Given the description of an element on the screen output the (x, y) to click on. 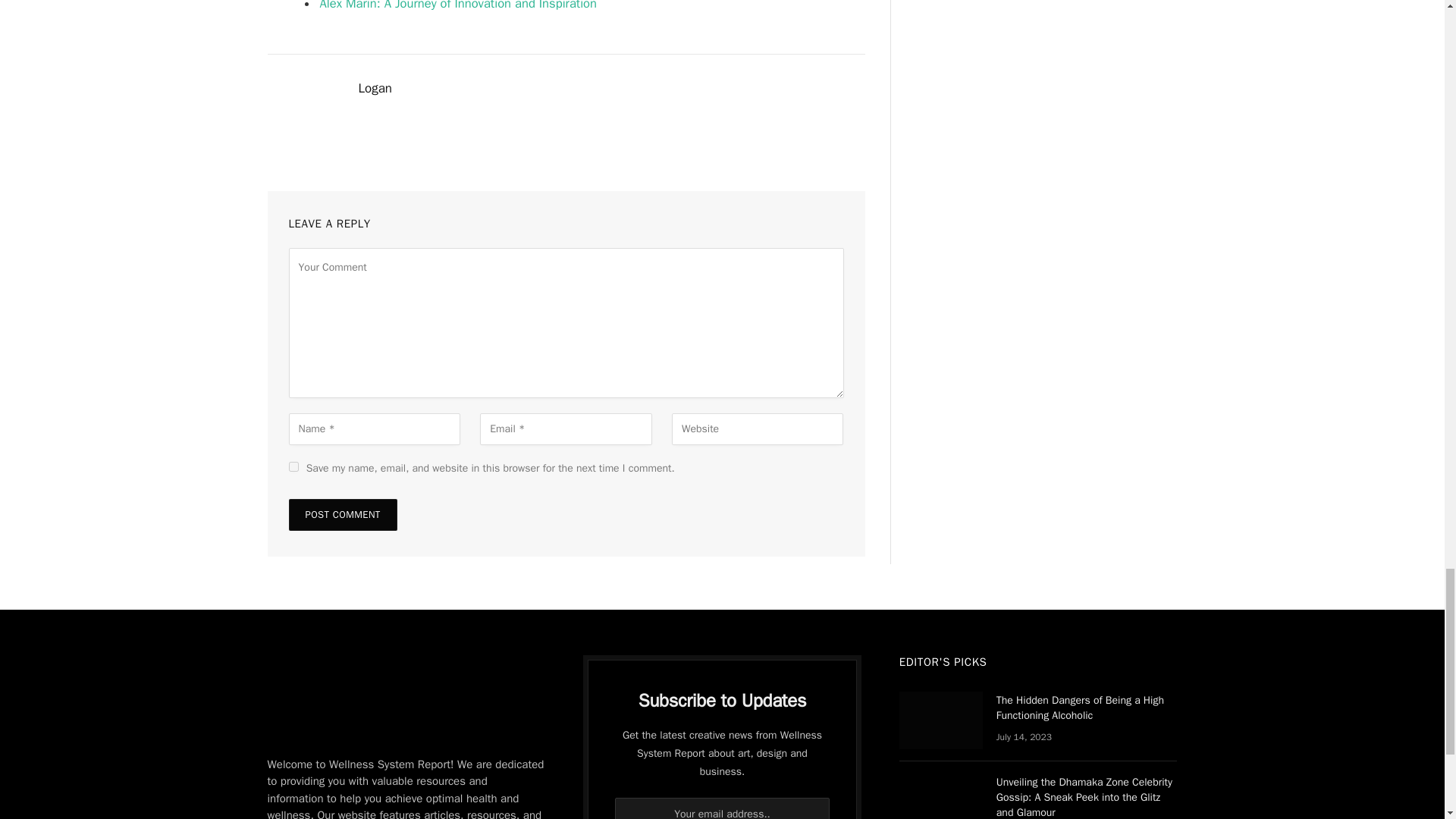
Posts by Logan (374, 88)
yes (293, 466)
Post Comment (342, 514)
The Hidden Dangers of Being a High Functioning Alcoholic (940, 720)
